Given the description of an element on the screen output the (x, y) to click on. 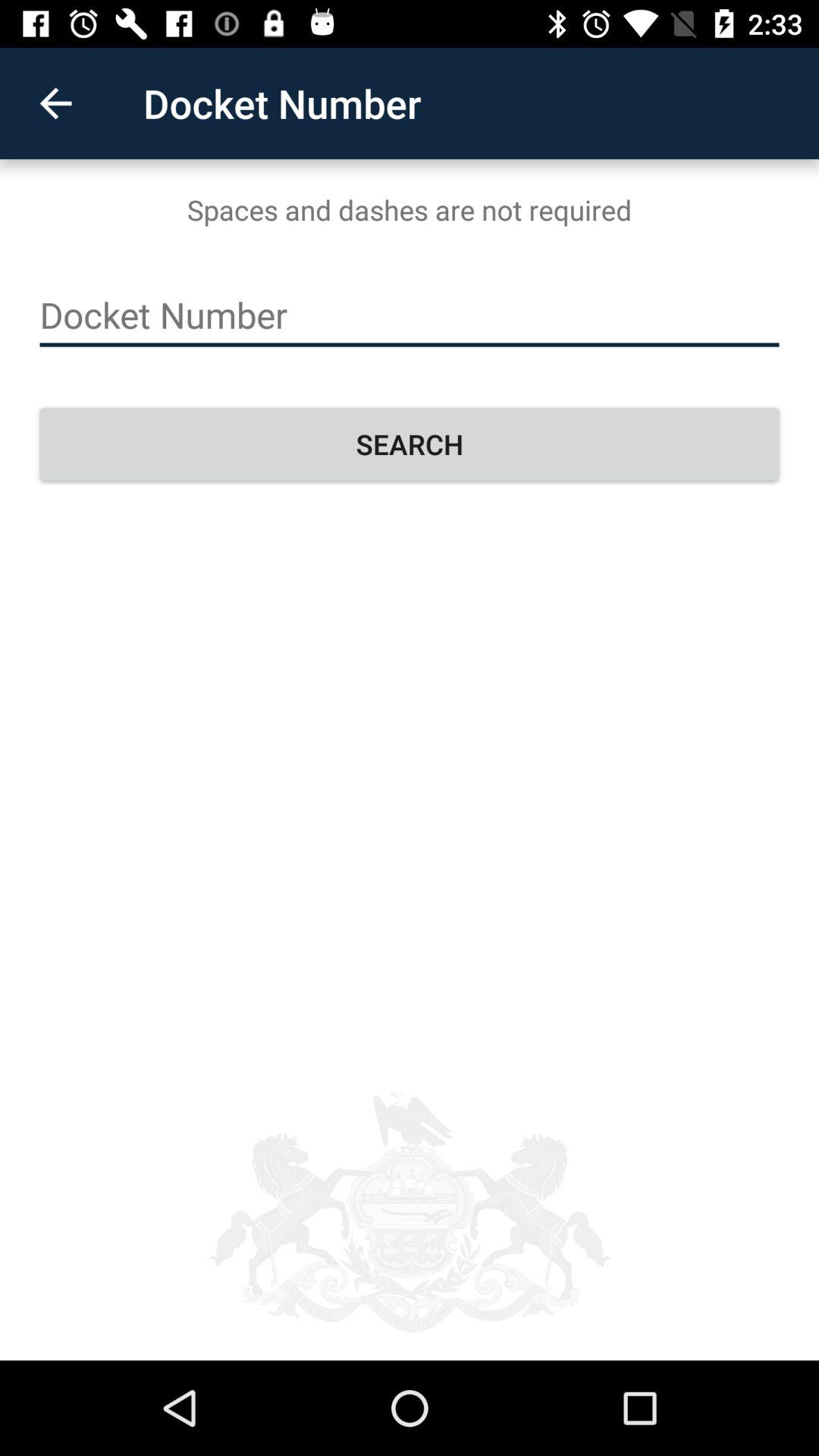
select the icon above the spaces and dashes (55, 103)
